Given the description of an element on the screen output the (x, y) to click on. 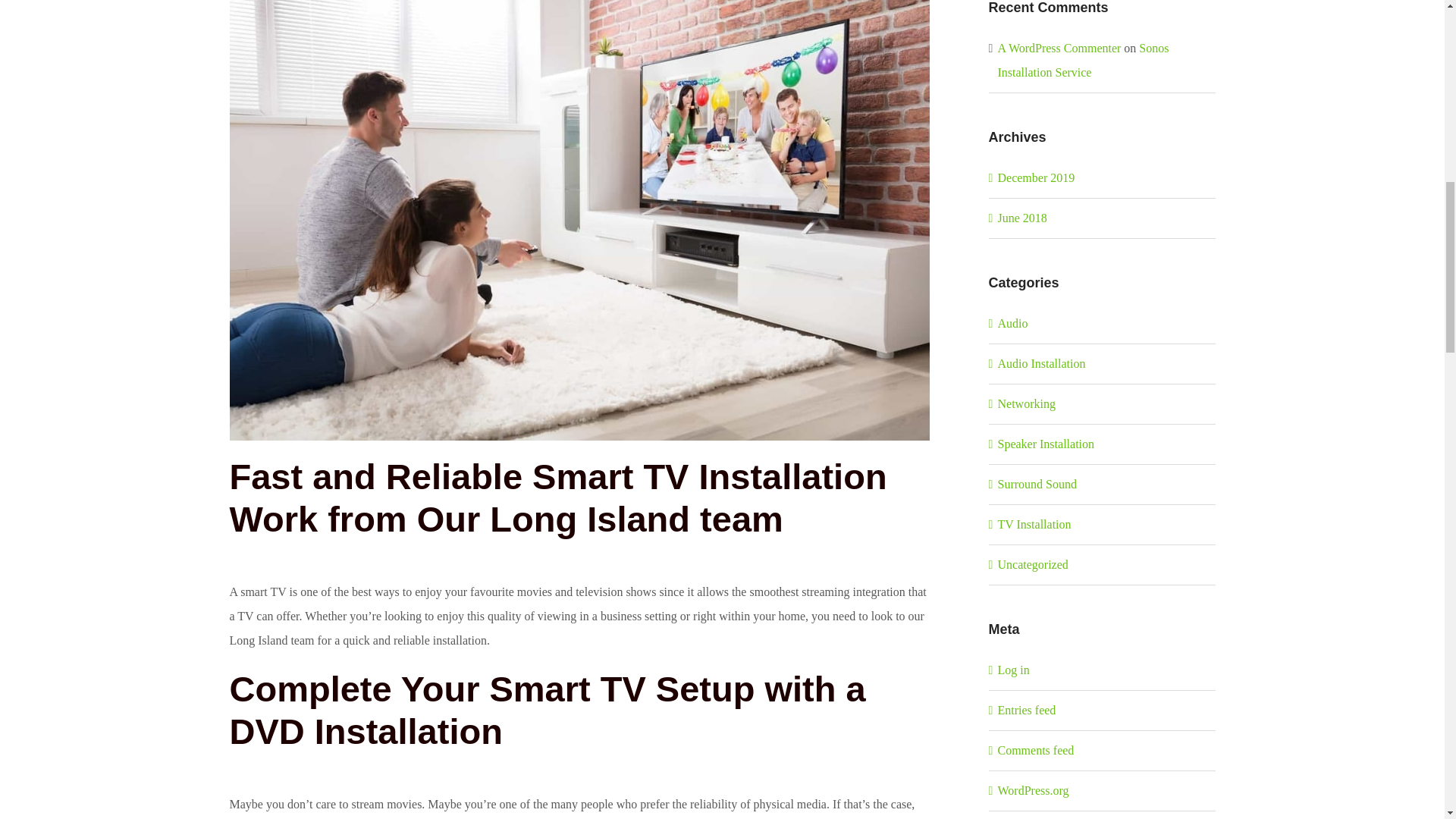
A WordPress Commenter (1059, 47)
